Given the description of an element on the screen output the (x, y) to click on. 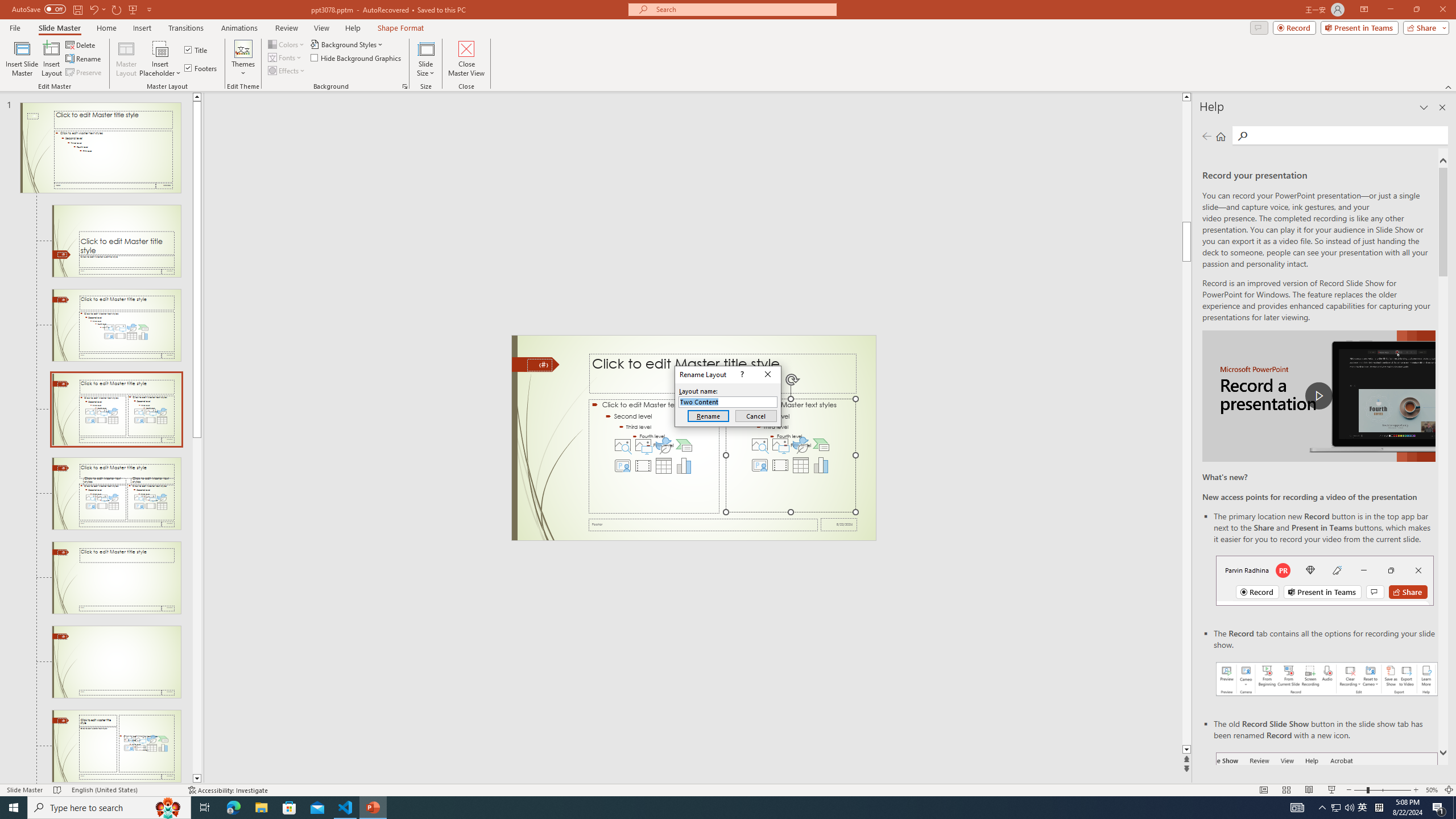
Effects (287, 69)
Previous page (1206, 136)
Freeform 11 (535, 364)
Slide Master (59, 28)
